Given the description of an element on the screen output the (x, y) to click on. 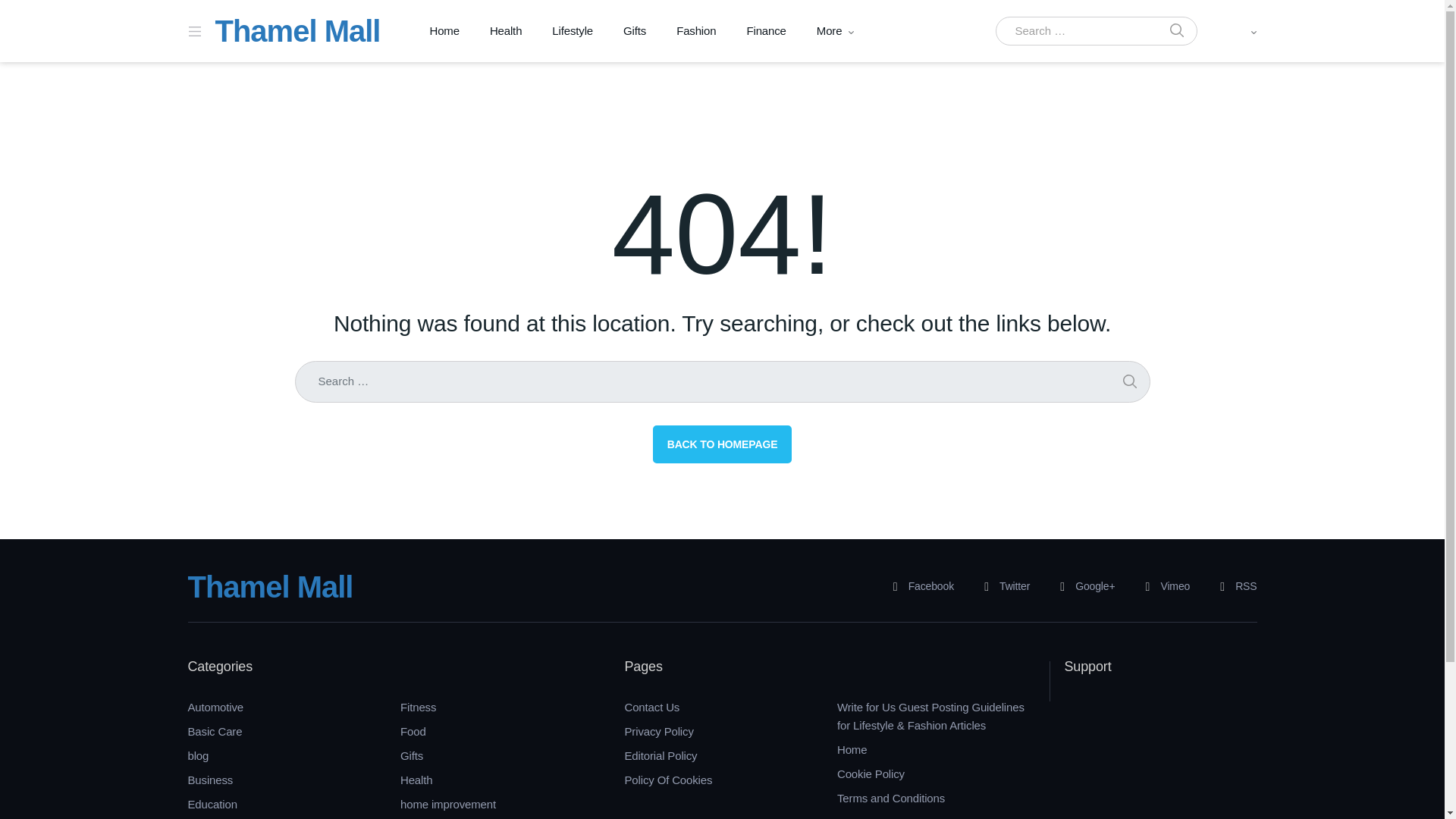
SEARCH (1176, 31)
Facebook (917, 586)
Thamel Mall (270, 586)
Home (443, 31)
More (829, 31)
Lifestyle (572, 31)
Finance (765, 31)
Gifts (634, 31)
Fashion (695, 31)
BACK TO HOMEPAGE (722, 443)
